Given the description of an element on the screen output the (x, y) to click on. 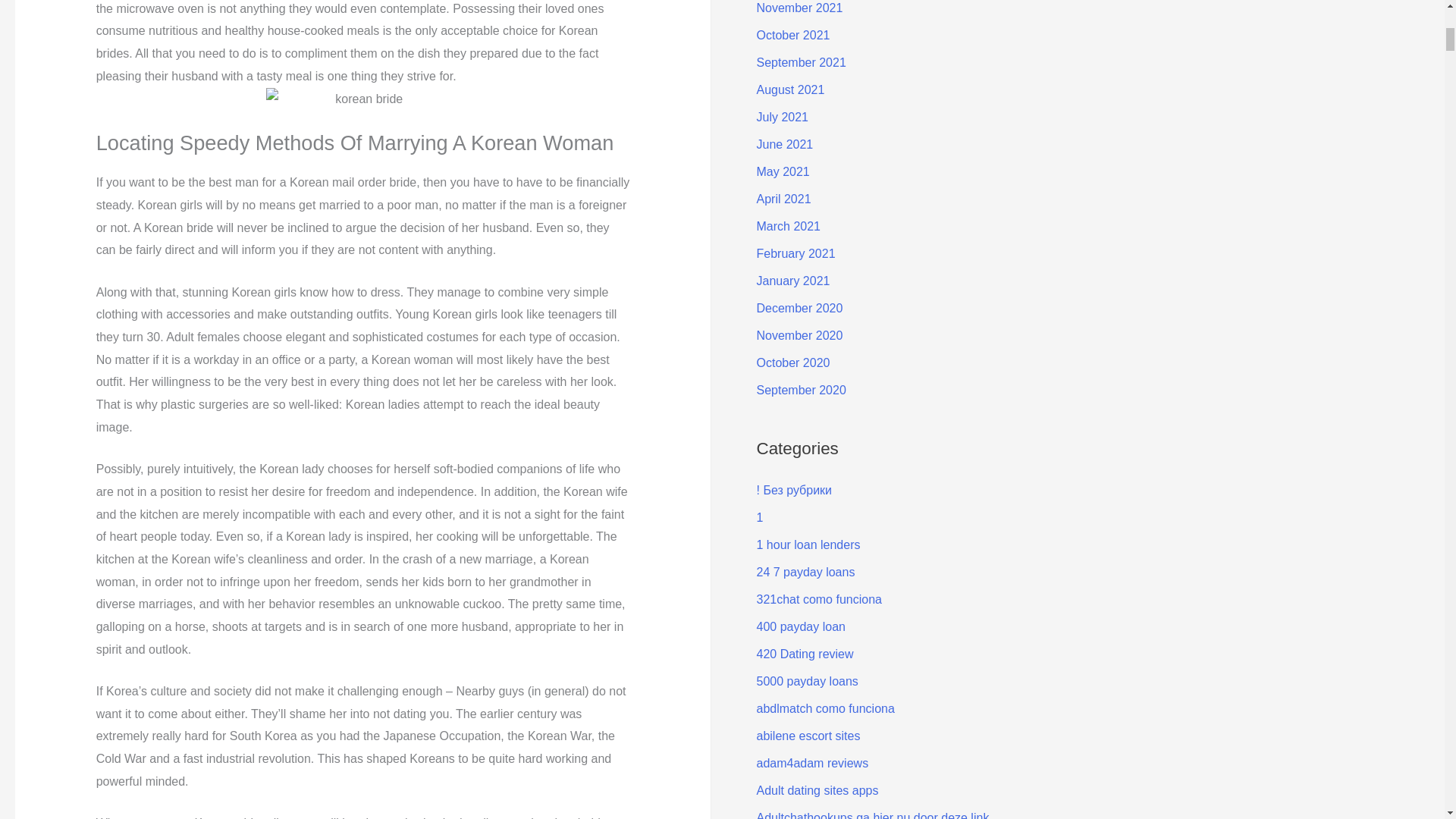
September 2021 (801, 62)
October 2021 (793, 34)
November 2021 (800, 7)
